Given the description of an element on the screen output the (x, y) to click on. 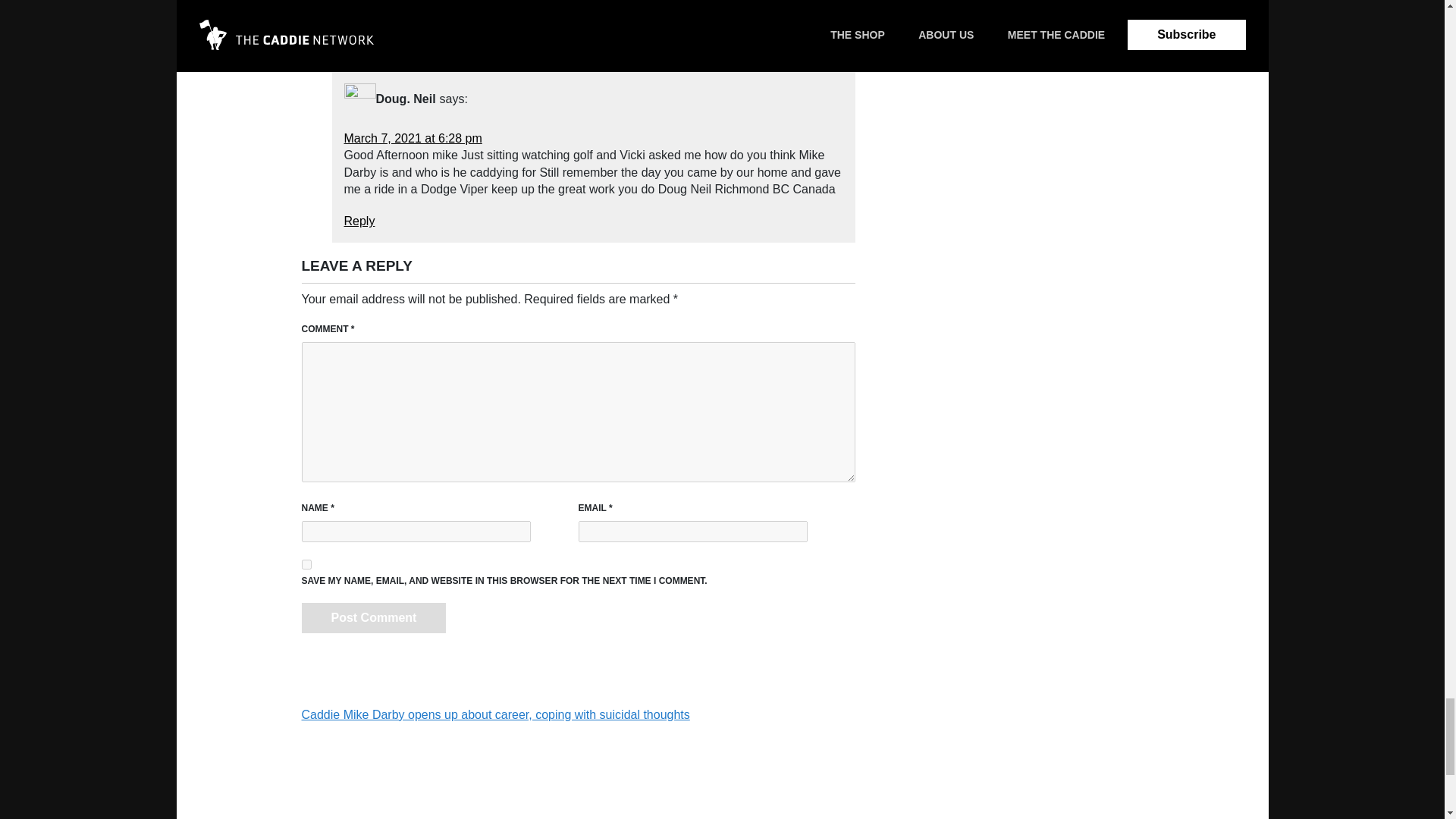
Post Comment (373, 617)
March 7, 2021 at 6:28 pm (412, 137)
Reply (359, 220)
Reply (359, 33)
yes (306, 564)
Post Comment (373, 617)
